Given the description of an element on the screen output the (x, y) to click on. 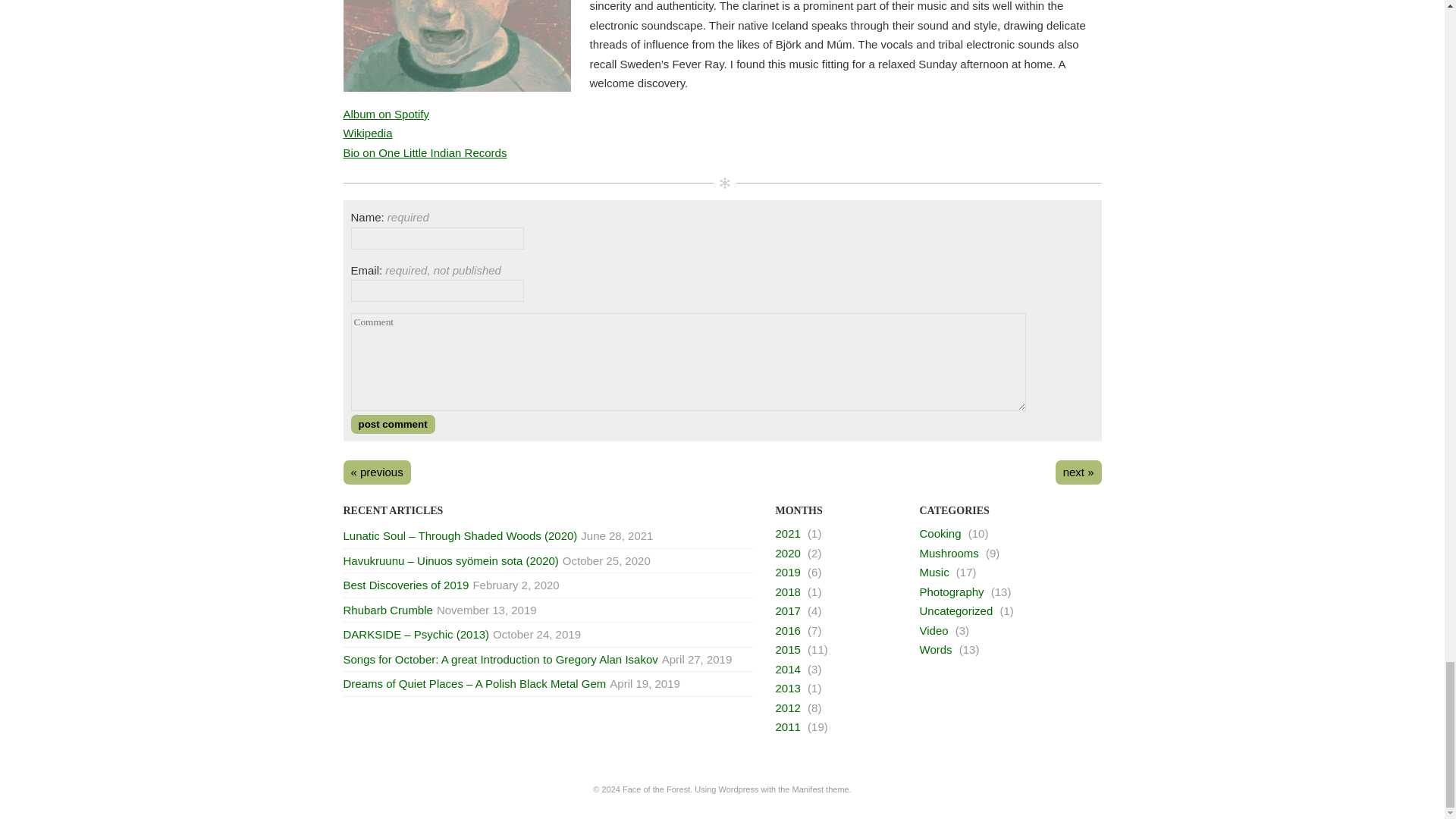
2015 (786, 649)
2014 (786, 668)
post comment (391, 424)
Bio on One Little Indian Records (424, 152)
2016 (786, 630)
Rhubarb Crumble (387, 609)
2020 (786, 553)
Wikipedia (366, 132)
2017 (786, 610)
2019 (786, 571)
